Given the description of an element on the screen output the (x, y) to click on. 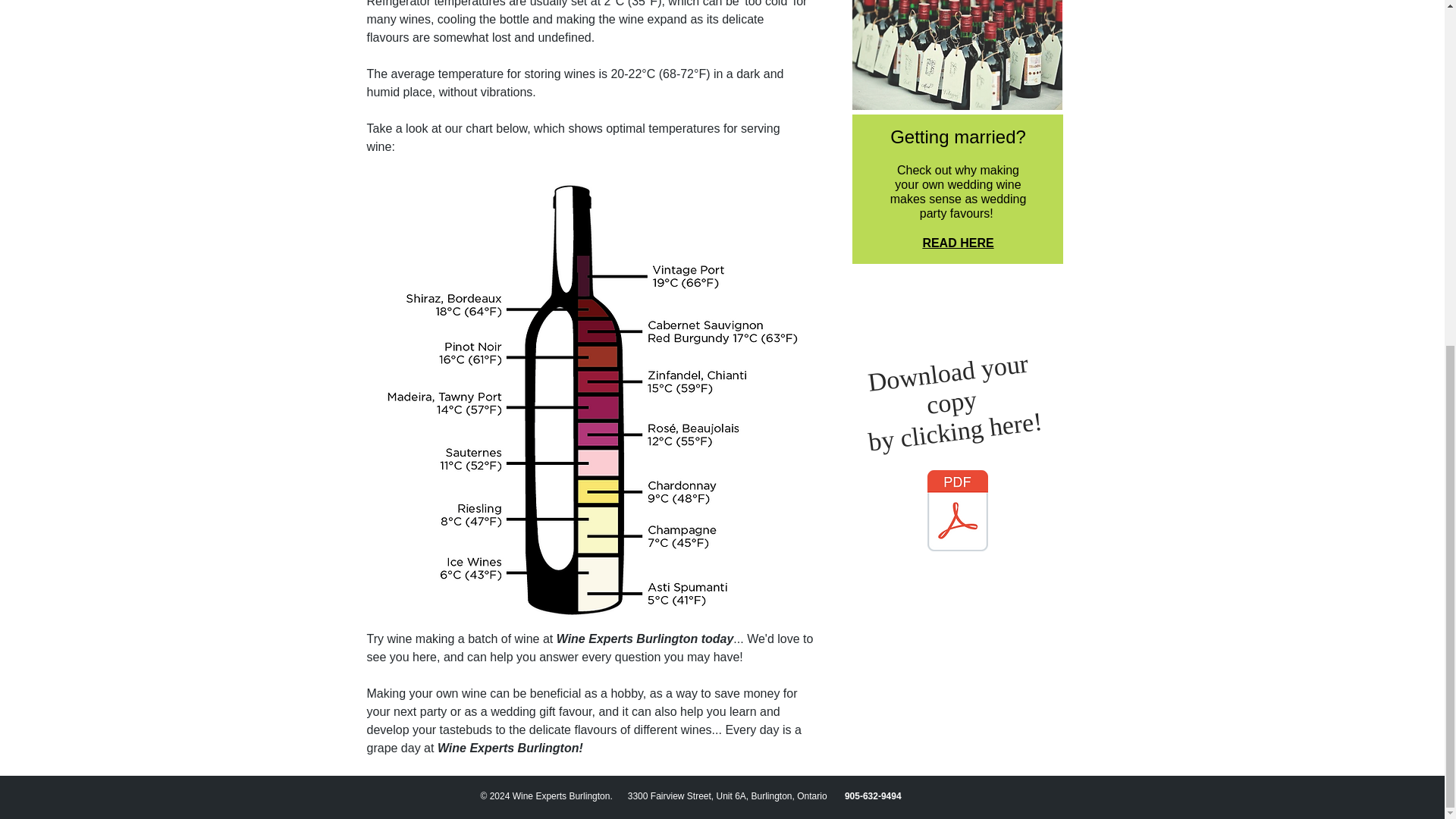
READ HERE (956, 242)
